Given the description of an element on the screen output the (x, y) to click on. 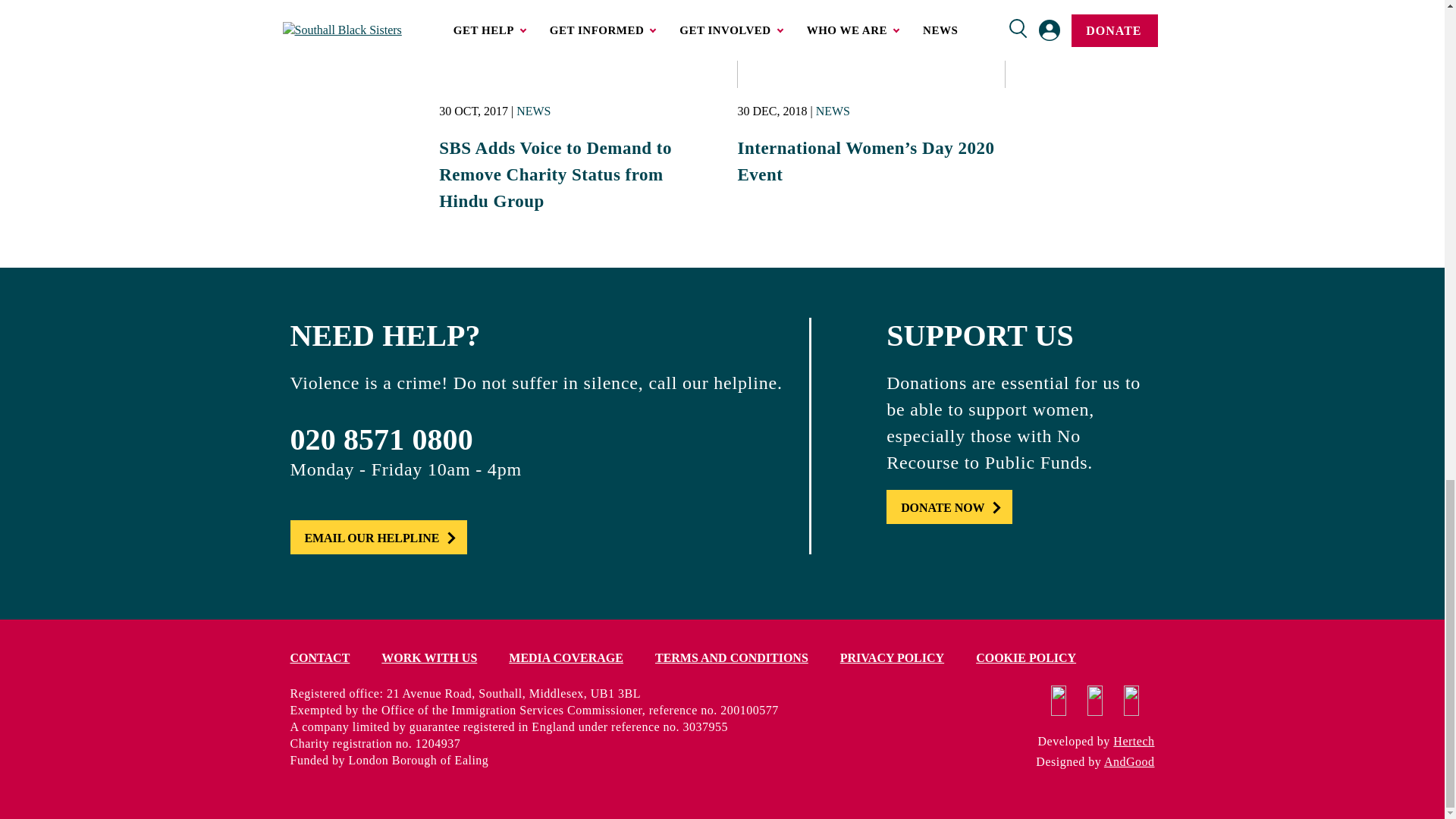
NEWS (533, 110)
